Given the description of an element on the screen output the (x, y) to click on. 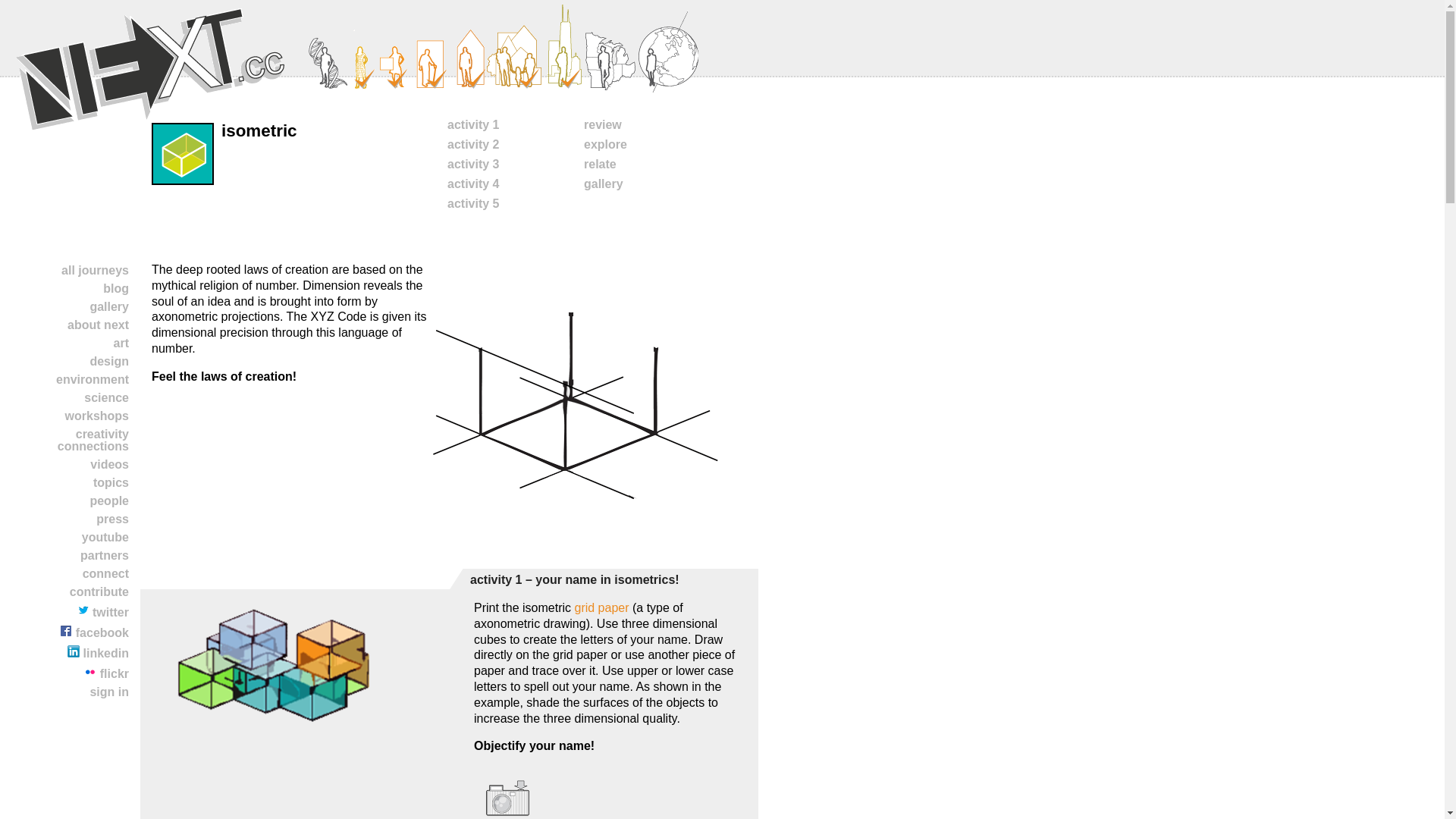
videos (71, 464)
press (71, 519)
science (71, 398)
connect (71, 574)
gallery (71, 307)
explore (605, 144)
sign in (71, 692)
design (71, 361)
flickr (71, 672)
blog (71, 289)
